Given the description of an element on the screen output the (x, y) to click on. 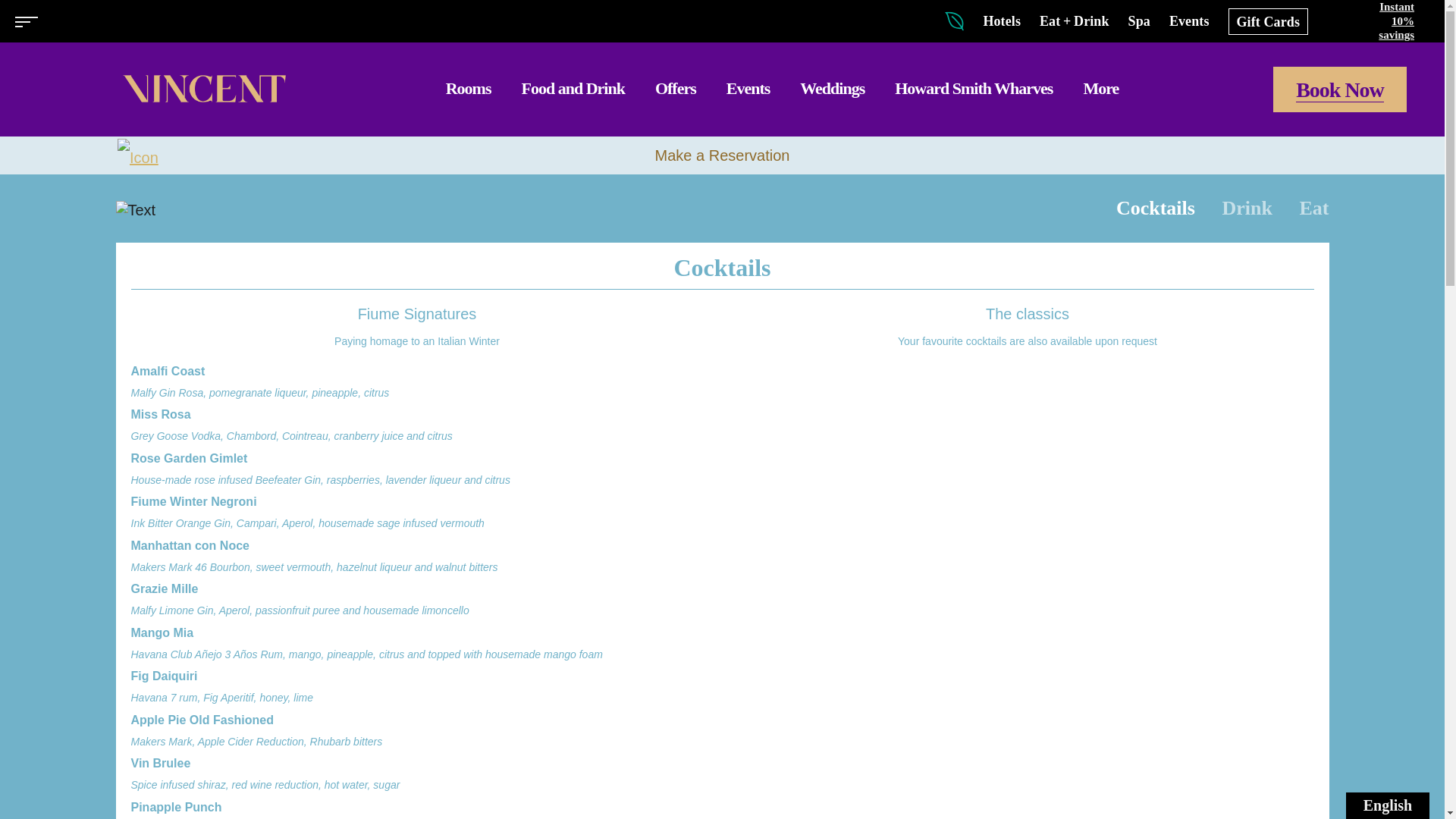
Crystalbrook Collection (98, 21)
